Given the description of an element on the screen output the (x, y) to click on. 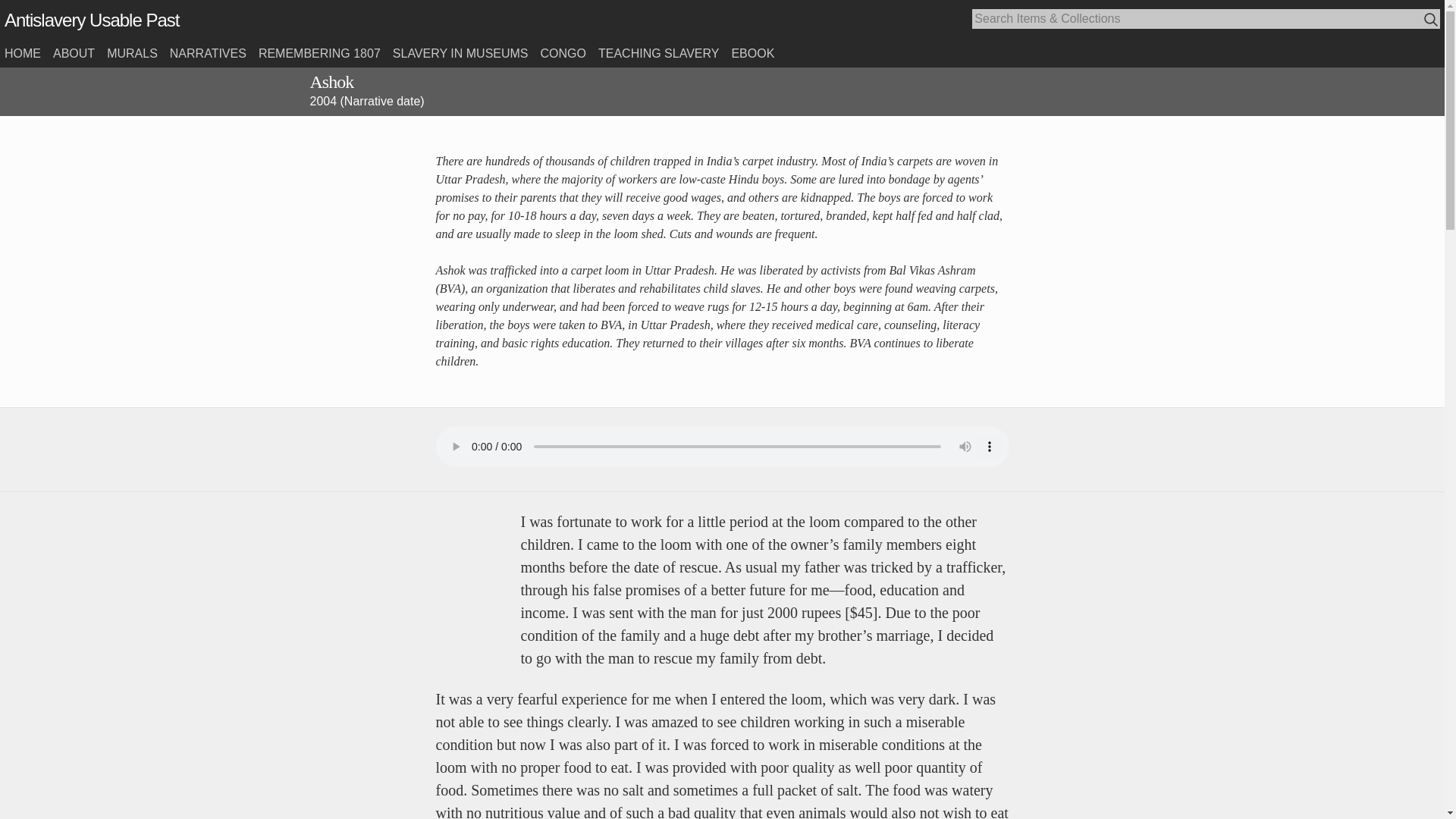
HOME (22, 52)
REMEMBERING 1807 (319, 52)
ABOUT (73, 52)
Antislavery Usable Past (91, 19)
EBOOK (752, 52)
TEACHING SLAVERY (658, 52)
Search (1431, 19)
Search (1430, 19)
NARRATIVES (208, 52)
MURALS (131, 52)
Search (1431, 19)
CONGO (563, 52)
SLAVERY IN MUSEUMS (460, 52)
